Given the description of an element on the screen output the (x, y) to click on. 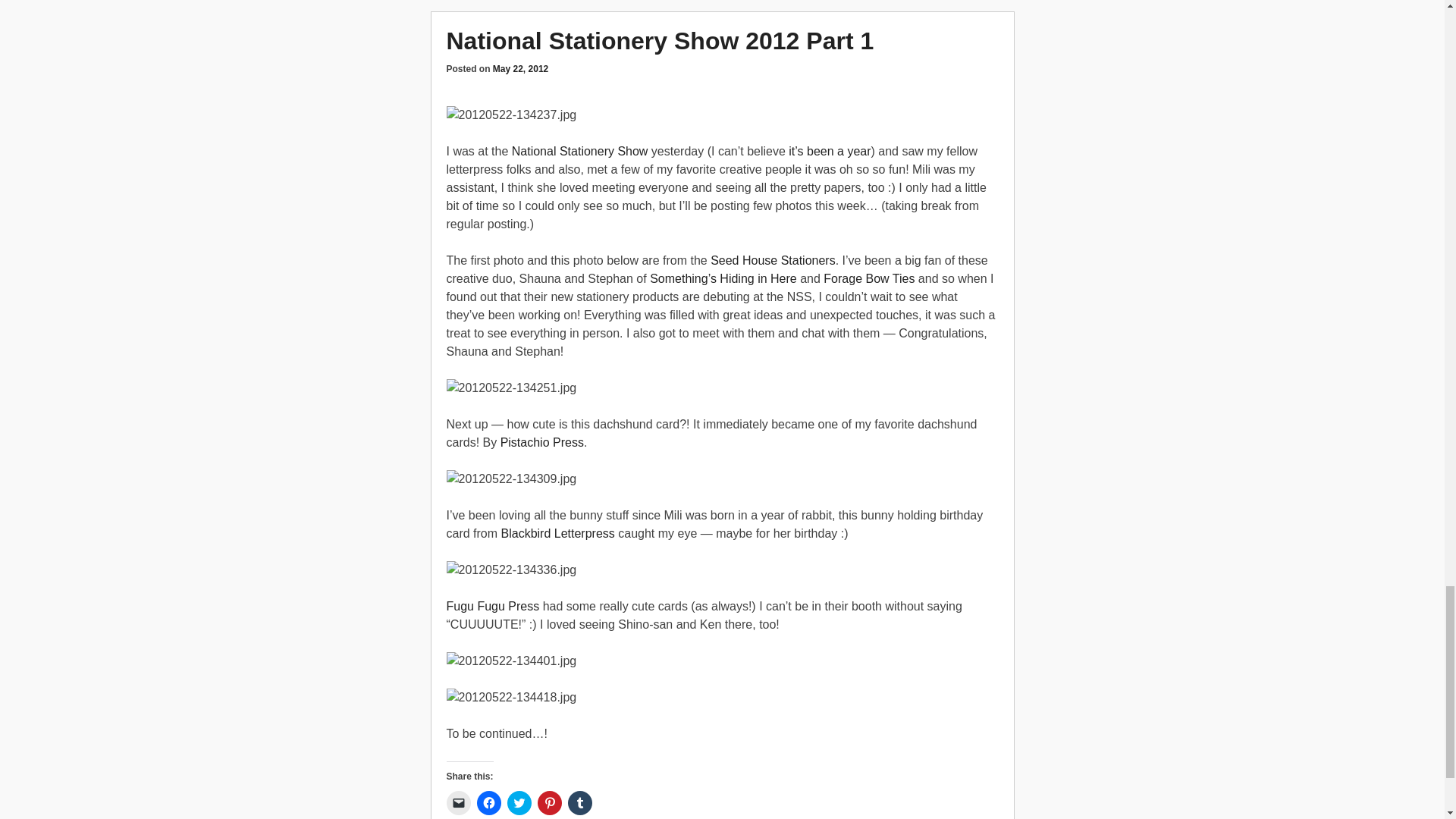
Forage Bow Ties (869, 278)
Pistachio Press (541, 441)
NSS (579, 151)
Seed House (772, 259)
Something's Hiding in here (722, 278)
Heartfish Press (829, 151)
